Given the description of an element on the screen output the (x, y) to click on. 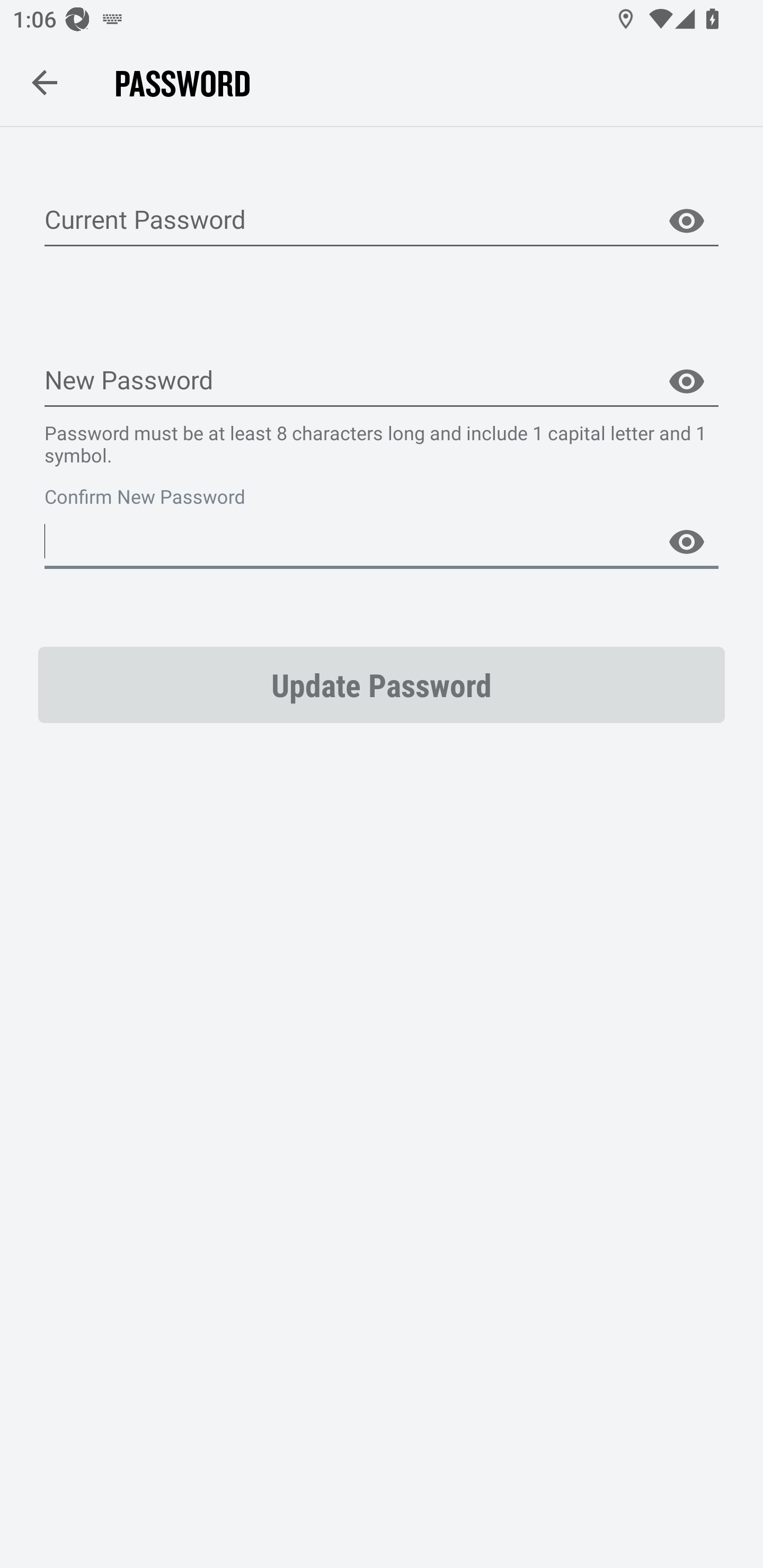
Navigate up (44, 82)
Current Password (381, 220)
Show password (686, 220)
New Password (381, 381)
Show password (686, 381)
Confirm New Password (381, 541)
Show password (686, 541)
Update Password (381, 684)
